Given the description of an element on the screen output the (x, y) to click on. 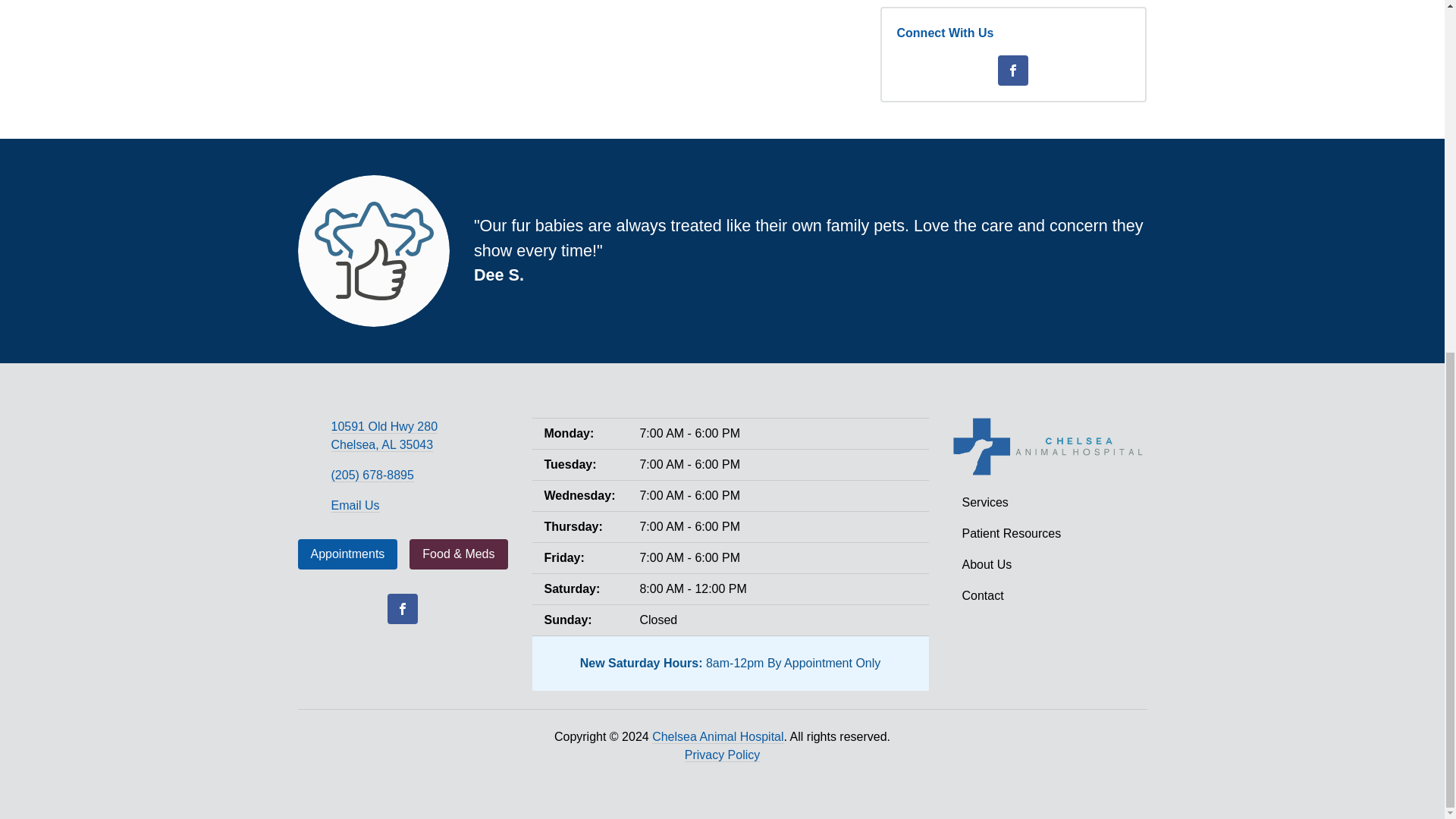
Open this Address on Google Maps (384, 436)
Facebook (1012, 70)
Email Us (354, 505)
Call Us (371, 475)
Top (1408, 227)
Facebook (402, 608)
Appointments (347, 553)
